Given the description of an element on the screen output the (x, y) to click on. 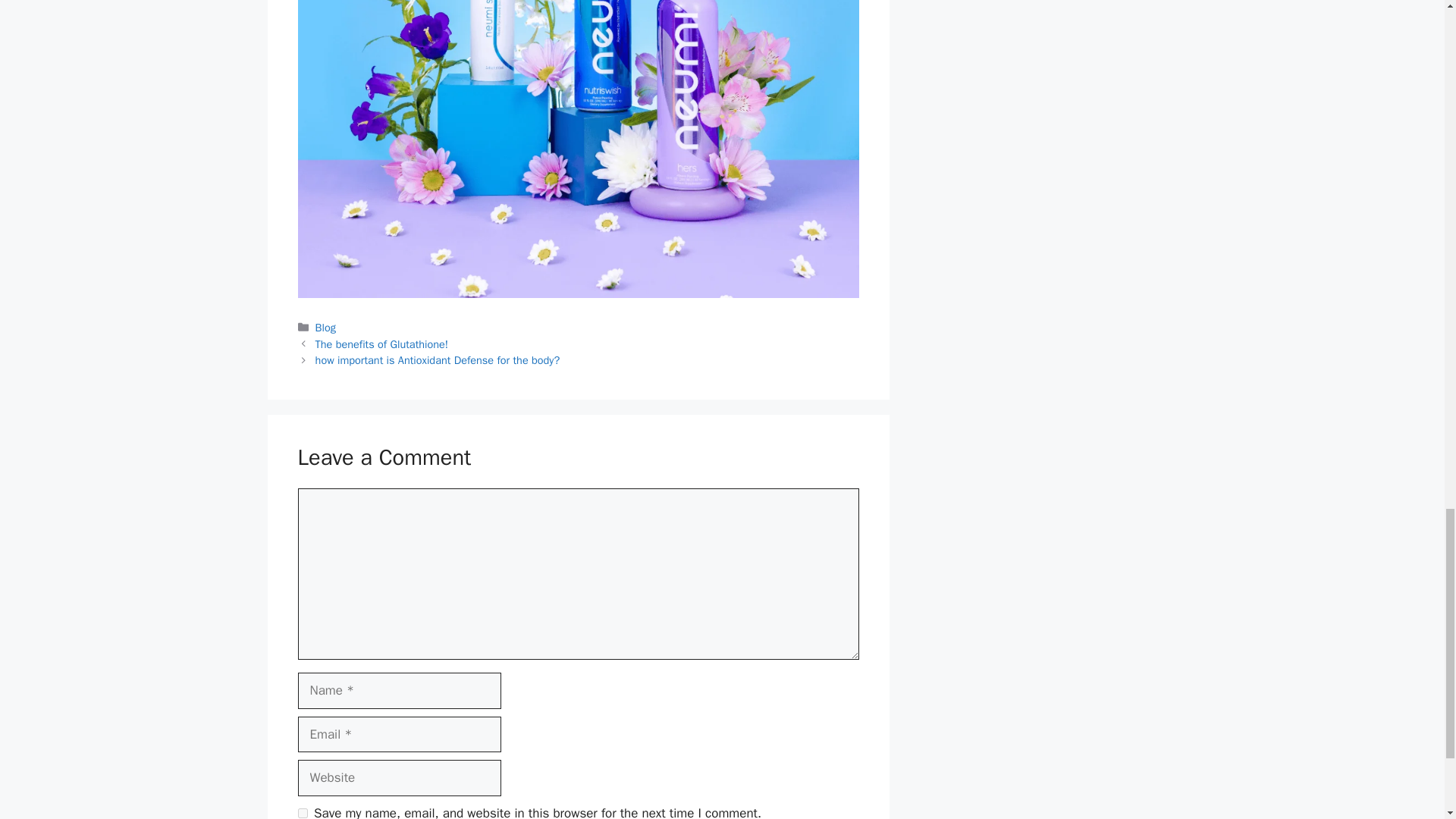
The benefits of Glutathione! (381, 344)
yes (302, 813)
how important is Antioxidant Defense for the body? (437, 359)
Blog (325, 327)
